Given the description of an element on the screen output the (x, y) to click on. 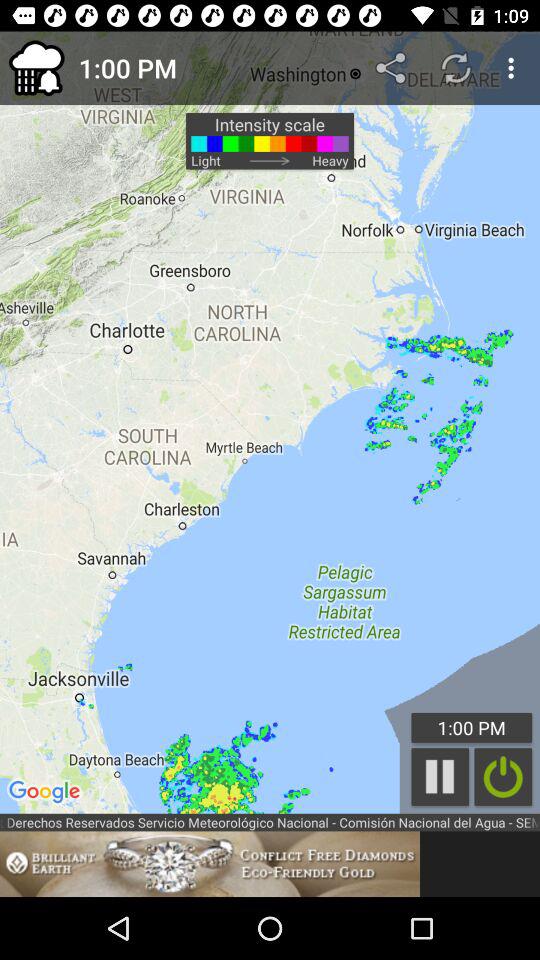
choose item below national weather service icon (210, 863)
